Given the description of an element on the screen output the (x, y) to click on. 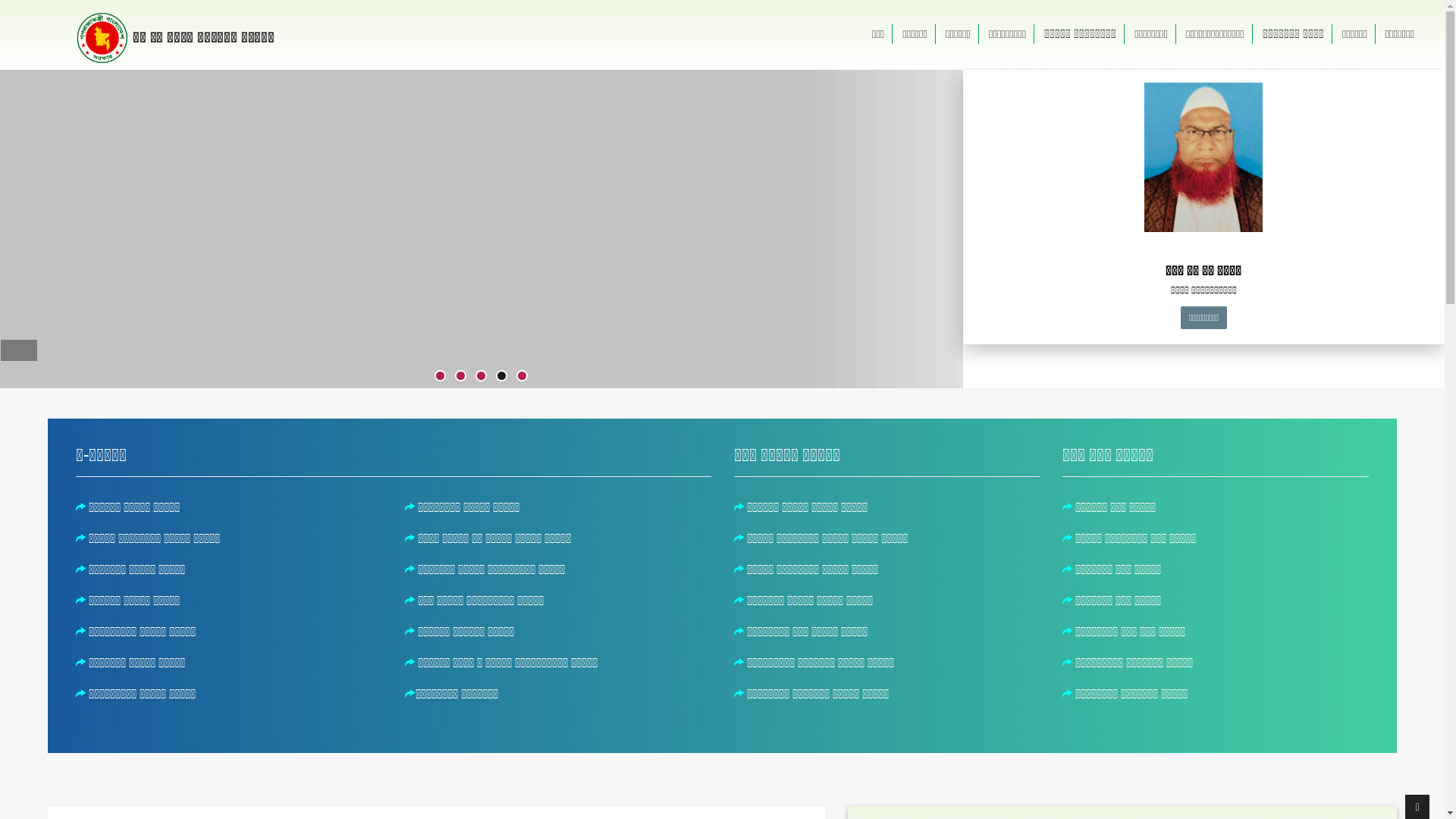
4 Element type: text (501, 375)
5 Element type: text (521, 375)
2 Element type: text (460, 375)
1 Element type: text (440, 375)
3 Element type: text (480, 375)
